Given the description of an element on the screen output the (x, y) to click on. 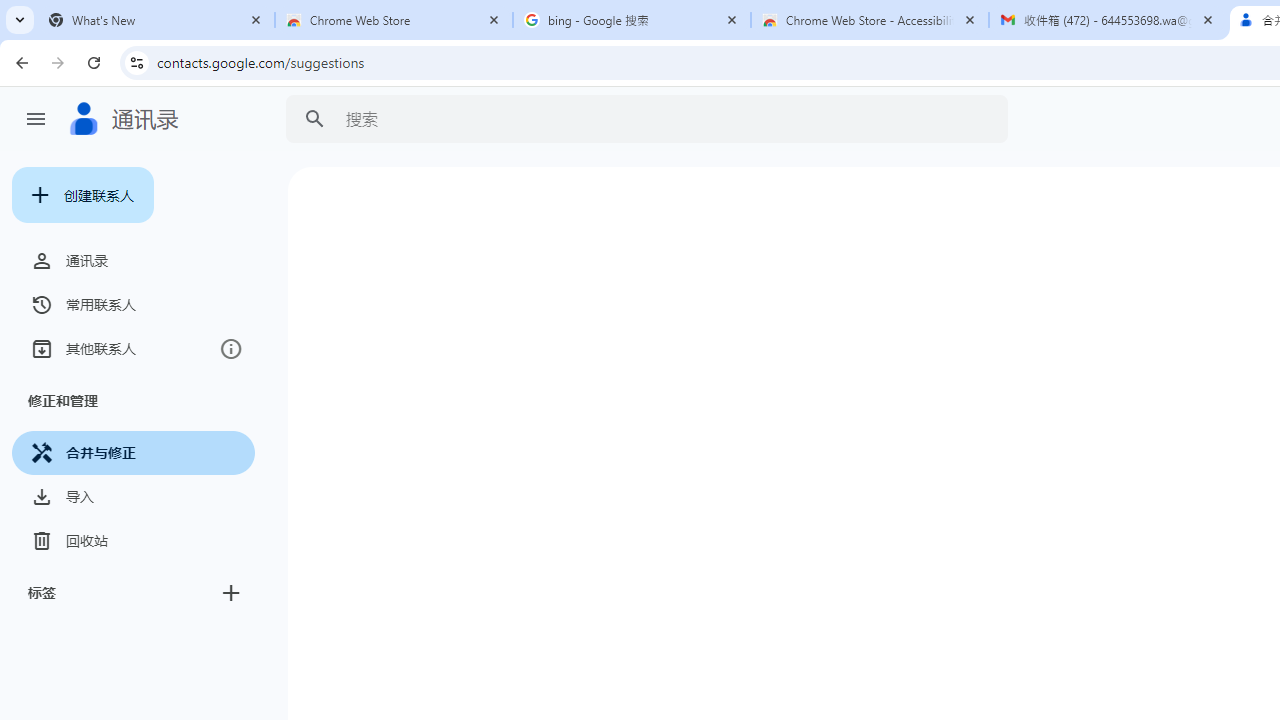
Chrome Web Store - Accessibility (870, 20)
Chrome Web Store (394, 20)
